Given the description of an element on the screen output the (x, y) to click on. 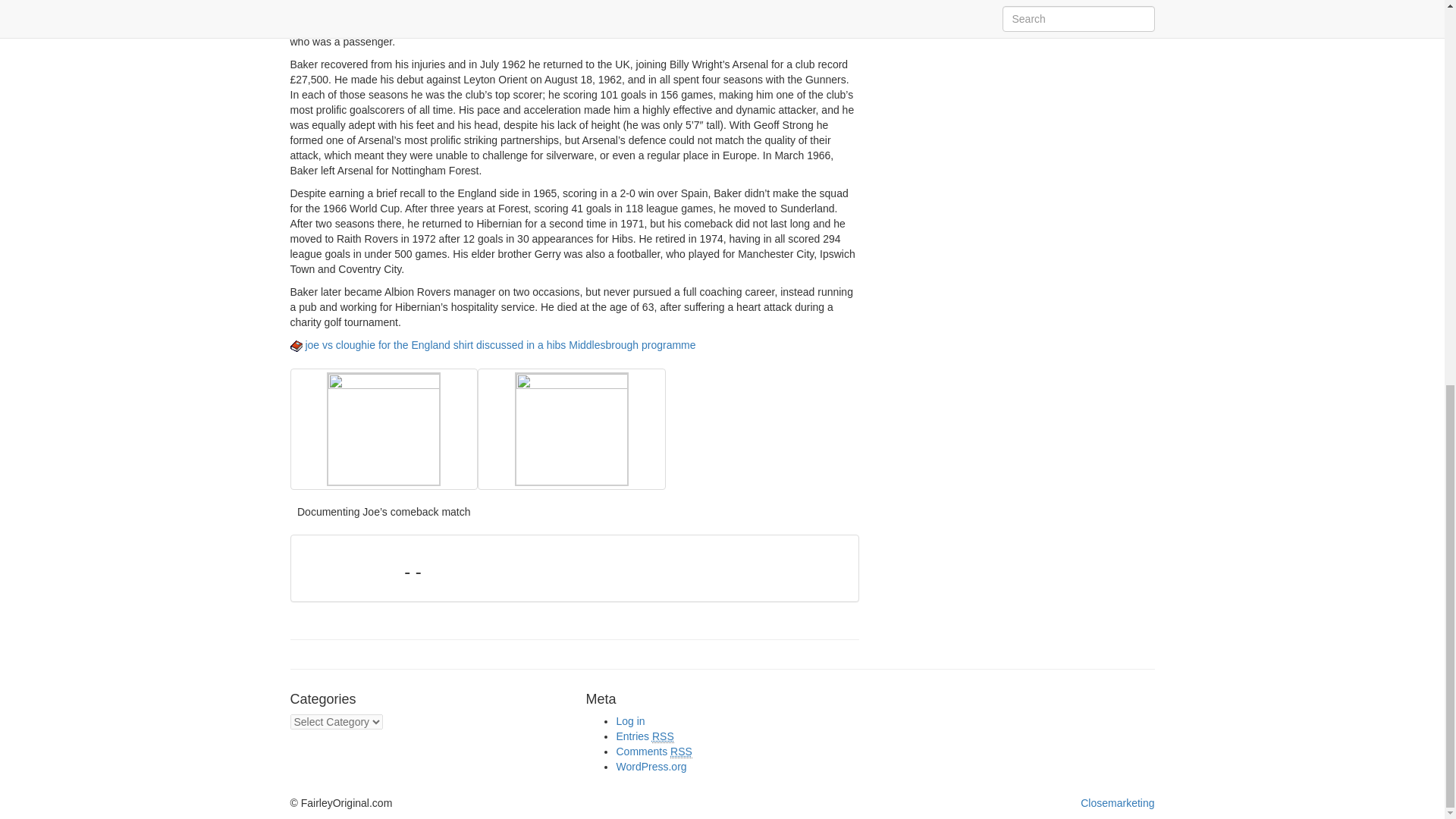
Closemarketing (1117, 802)
Entries RSS (643, 736)
Really Simple Syndication (663, 736)
Comments RSS (653, 751)
WordPress.org (650, 766)
Log in (630, 720)
Really Simple Syndication (681, 751)
